Given the description of an element on the screen output the (x, y) to click on. 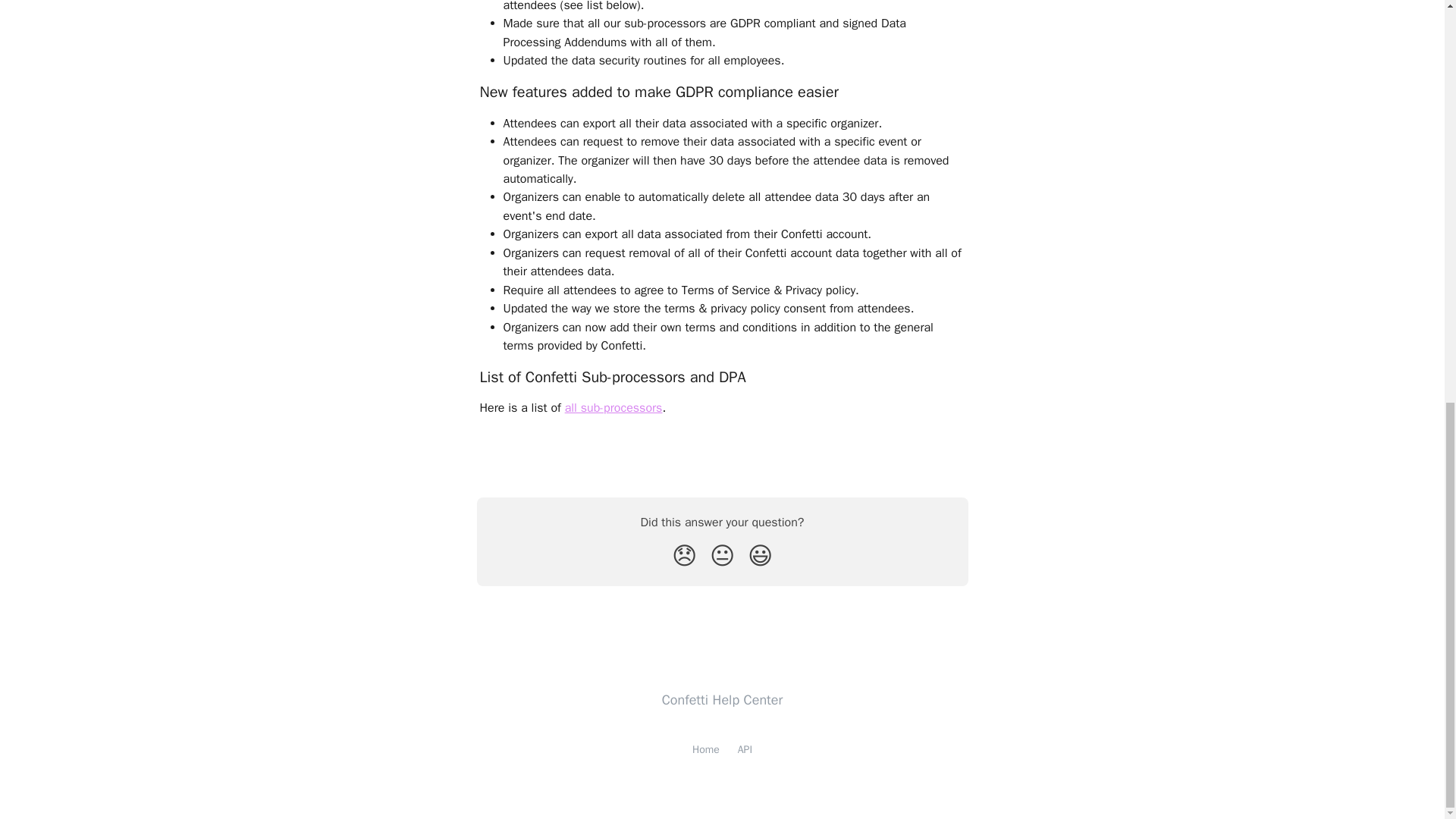
Confetti Help Center (722, 699)
Home (706, 748)
all sub-processors (613, 407)
API (745, 748)
